Given the description of an element on the screen output the (x, y) to click on. 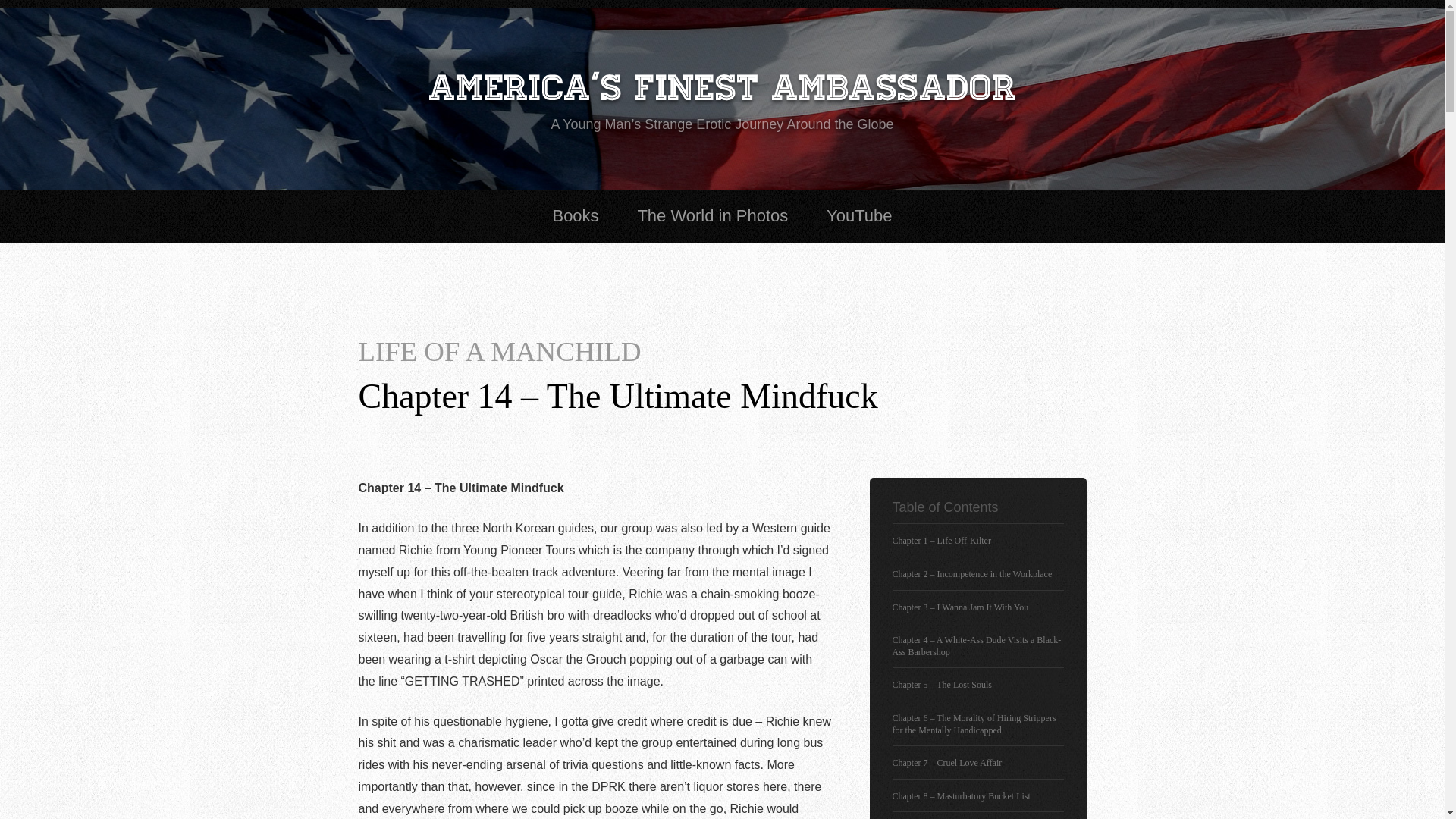
YouTube (859, 215)
Books (574, 215)
The World in Photos (712, 215)
